Given the description of an element on the screen output the (x, y) to click on. 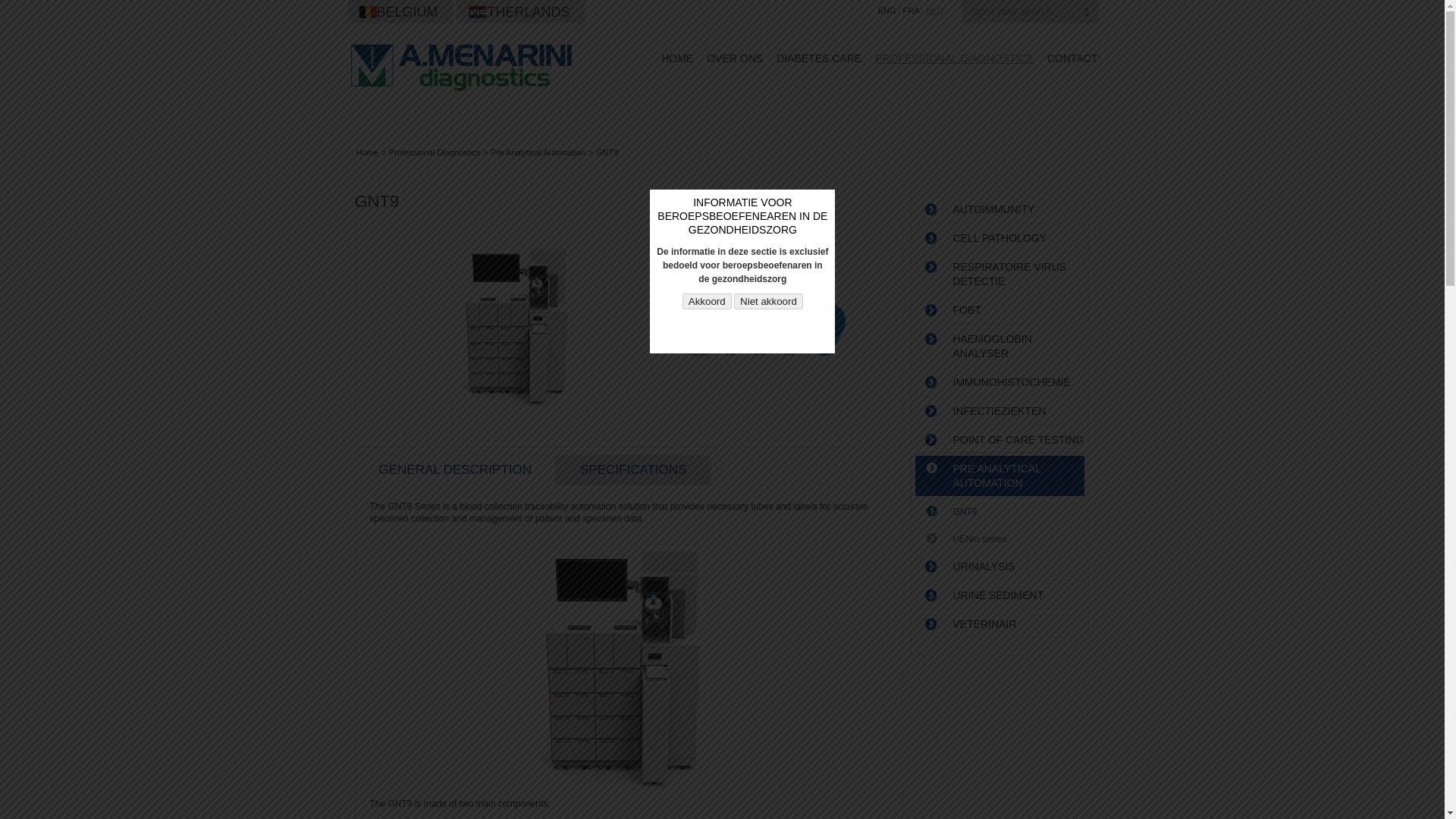
ENG (887, 10)
Professional Diagnostics (434, 152)
search input (1018, 11)
Akkoord (707, 301)
NLD (932, 10)
Menarini Diagnostics Belgio (461, 67)
DIABETES CARE (818, 58)
Niet akkoord (768, 301)
GNT9 (606, 152)
OVER ONS (734, 58)
